Given the description of an element on the screen output the (x, y) to click on. 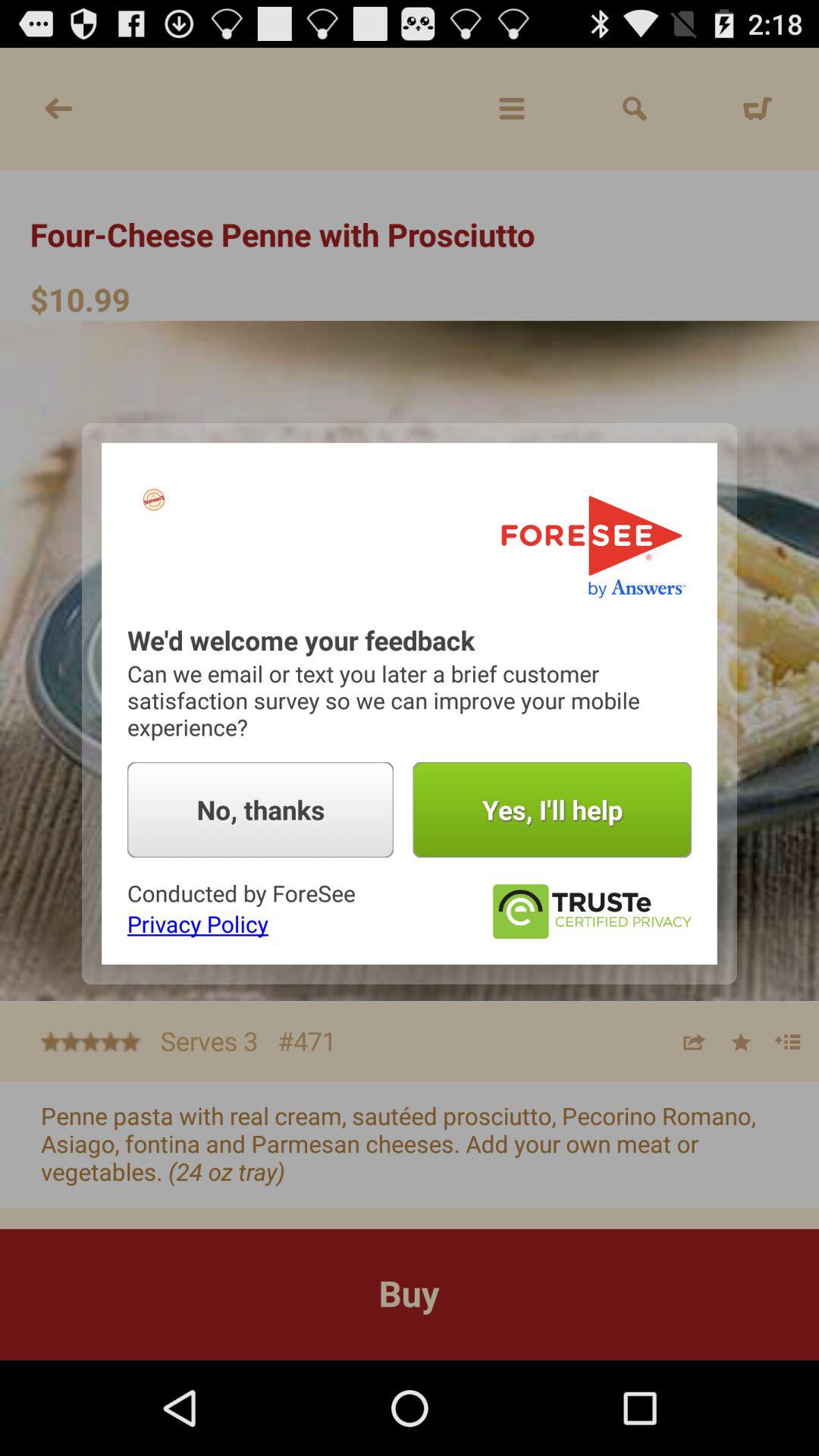
press the app below can we email app (260, 809)
